Given the description of an element on the screen output the (x, y) to click on. 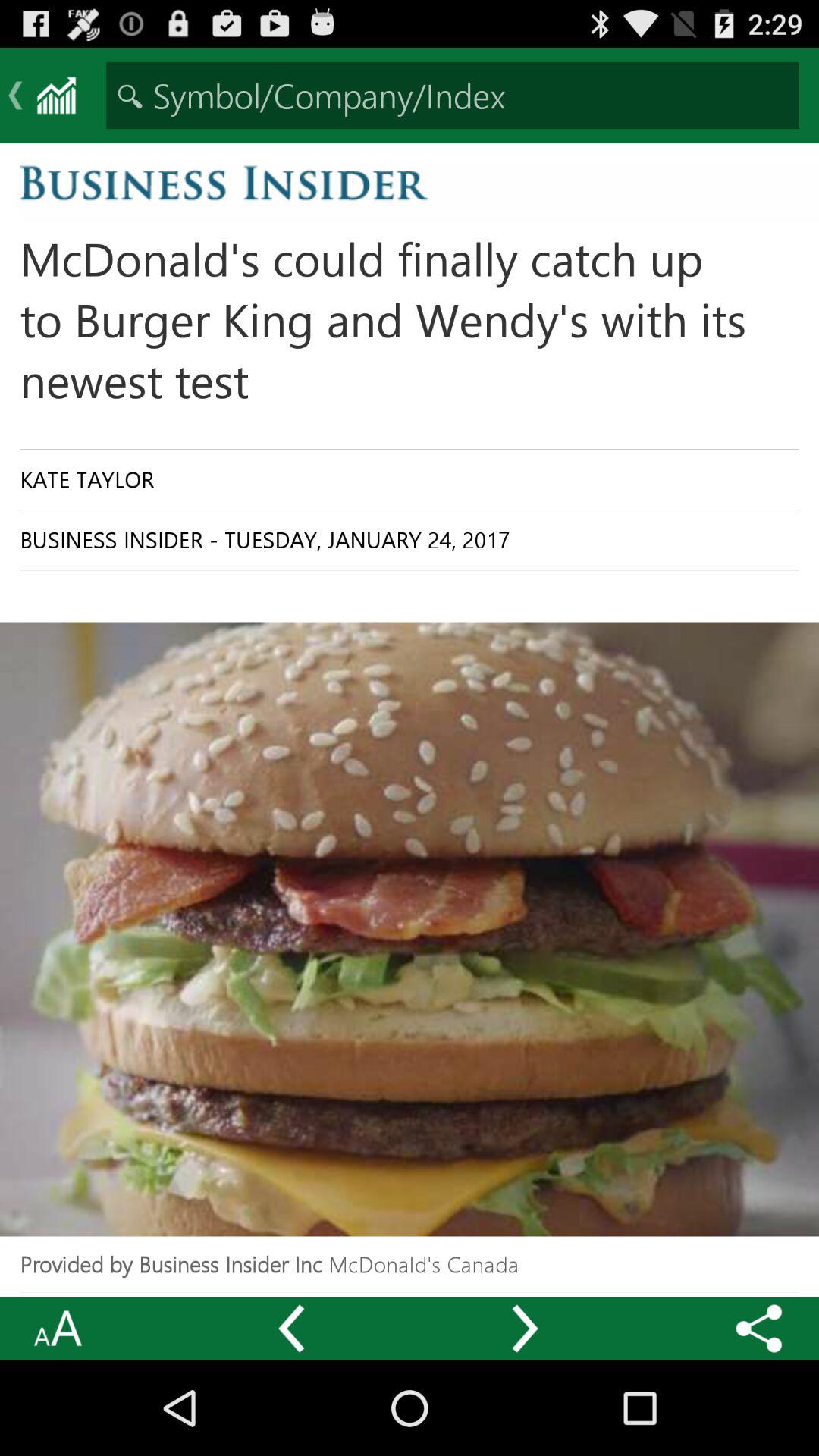
select the icon at the bottom left corner (58, 1328)
